Given the description of an element on the screen output the (x, y) to click on. 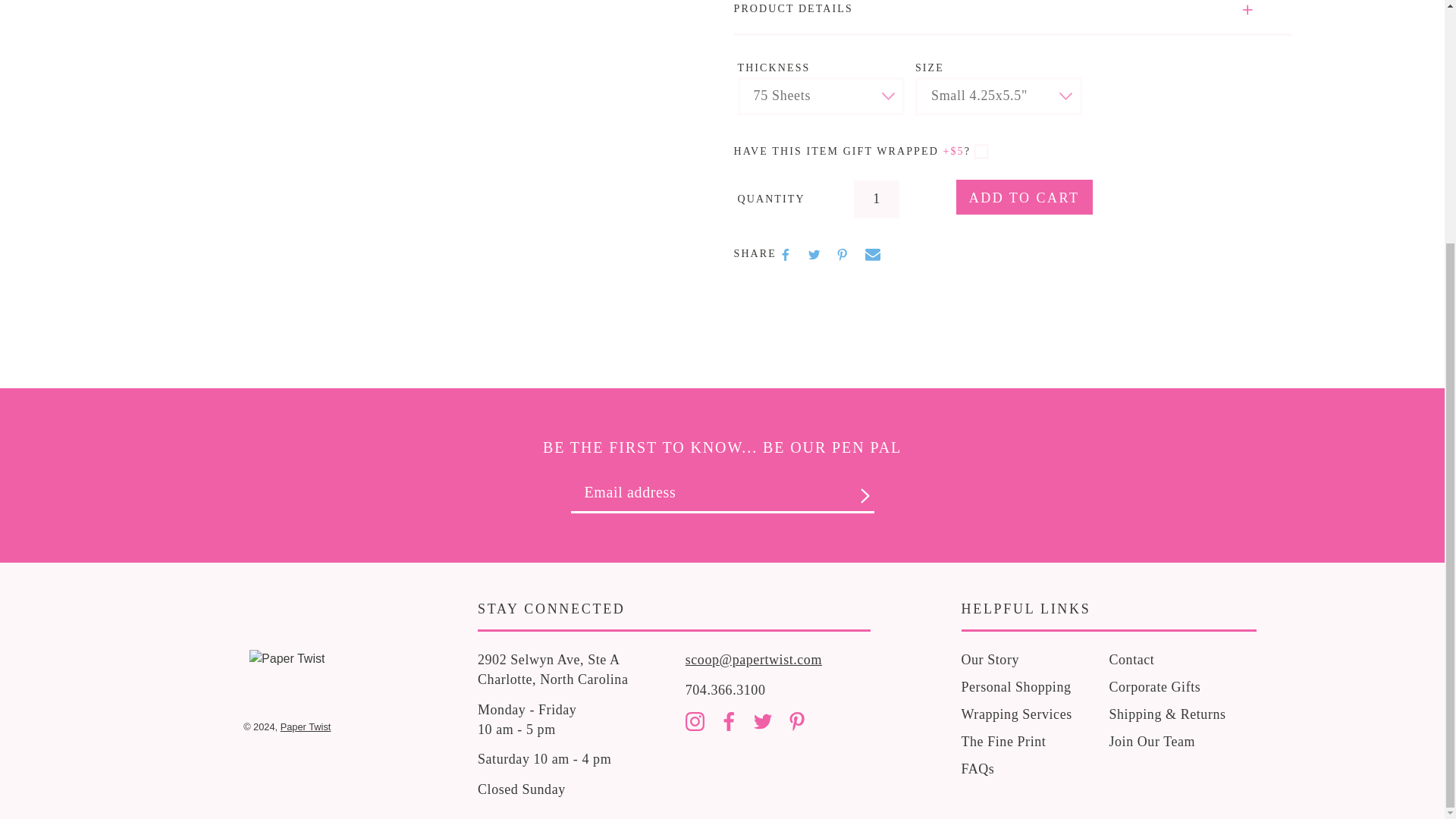
31795659669555 (981, 151)
Share by Email (872, 254)
tel:704.366.3100 (725, 690)
1 (876, 199)
